Given the description of an element on the screen output the (x, y) to click on. 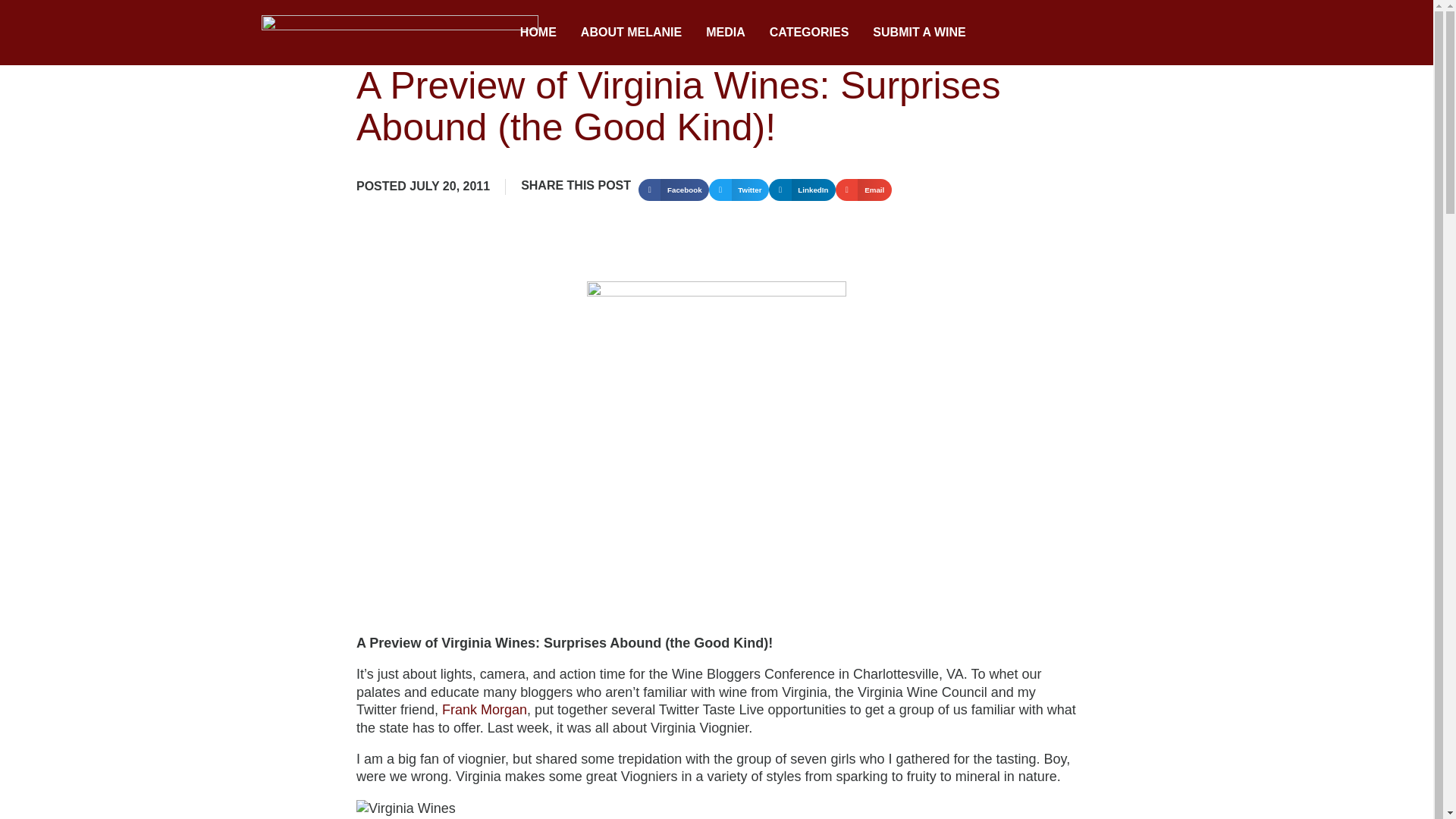
SUBMIT A WINE (918, 32)
Lego Land 038 (405, 808)
MEDIA (725, 32)
CATEGORIES (809, 32)
Frank Morgan (484, 709)
ABOUT MELANIE (631, 32)
HOME (538, 32)
